Given the description of an element on the screen output the (x, y) to click on. 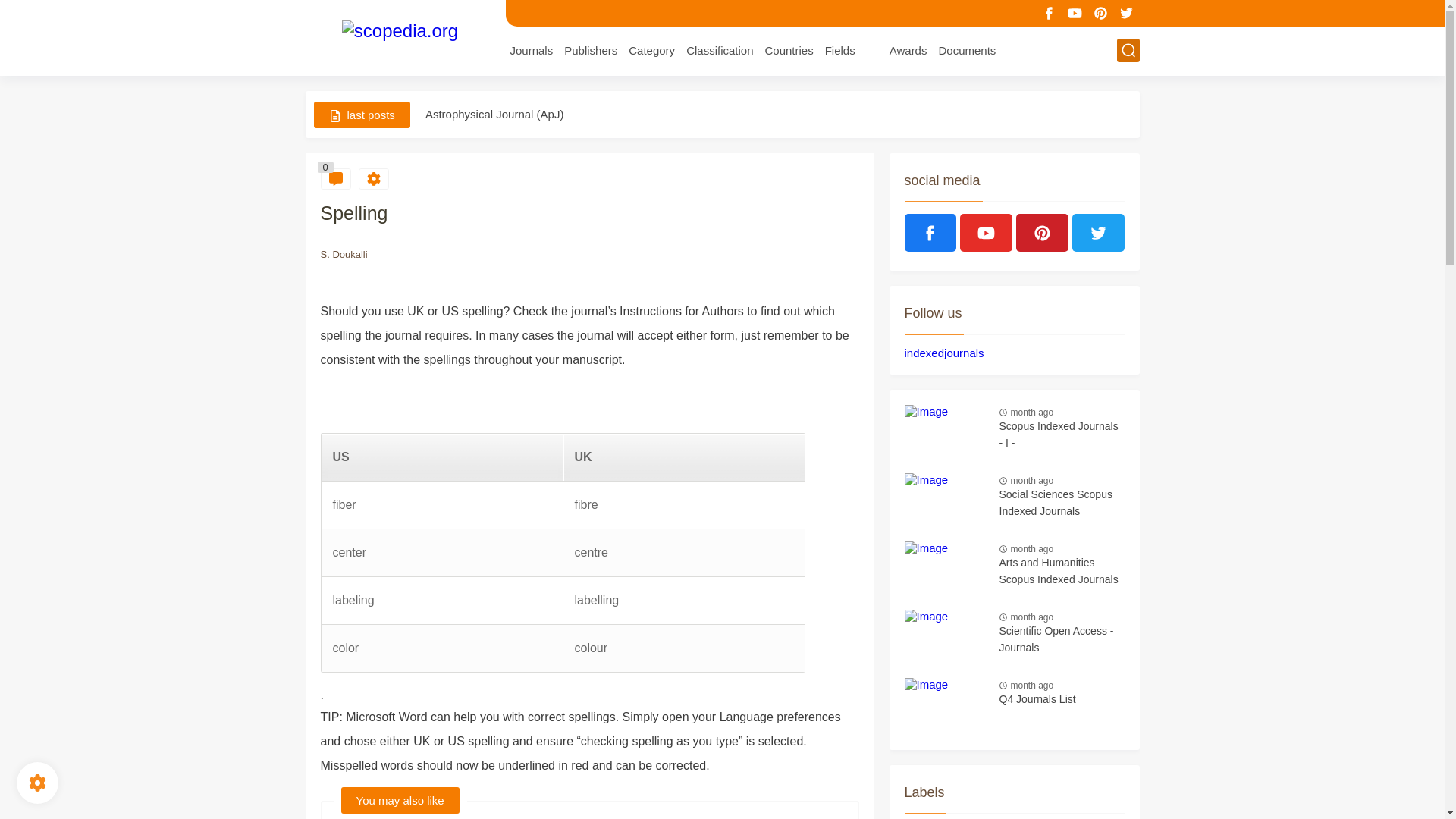
Classification (718, 50)
Classification (718, 50)
Countries (788, 50)
Category (651, 50)
scopedia.org (400, 36)
Fields (840, 50)
Publishers (590, 50)
Documents (966, 50)
Publishers (590, 50)
Countries (788, 50)
Journals (531, 50)
Journals (531, 50)
Fields (840, 50)
Category (651, 50)
Awards (908, 50)
